Given the description of an element on the screen output the (x, y) to click on. 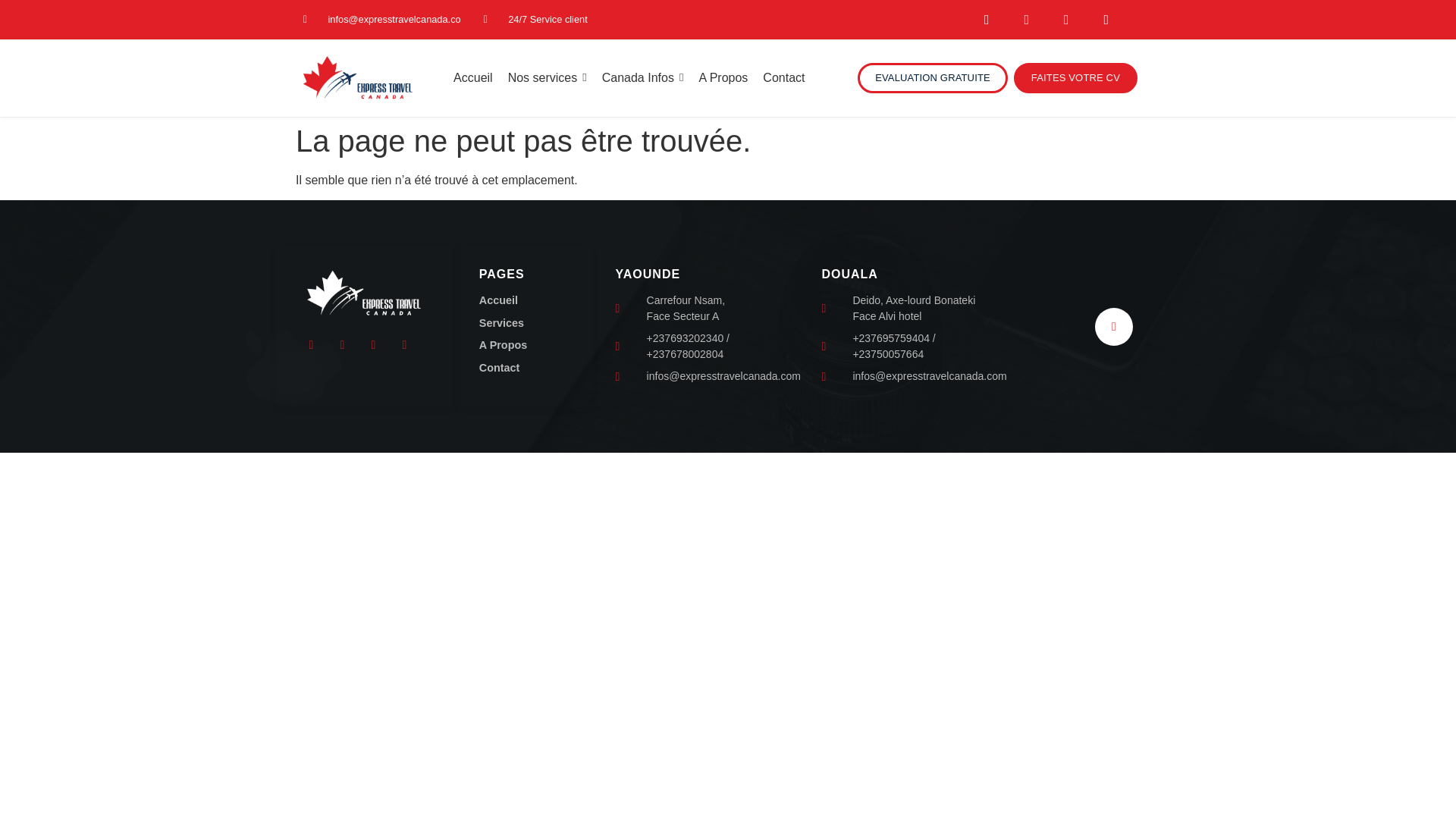
Canada Infos (643, 77)
Accueil (472, 77)
Nos services (547, 77)
Contact (783, 77)
A Propos (723, 77)
